Given the description of an element on the screen output the (x, y) to click on. 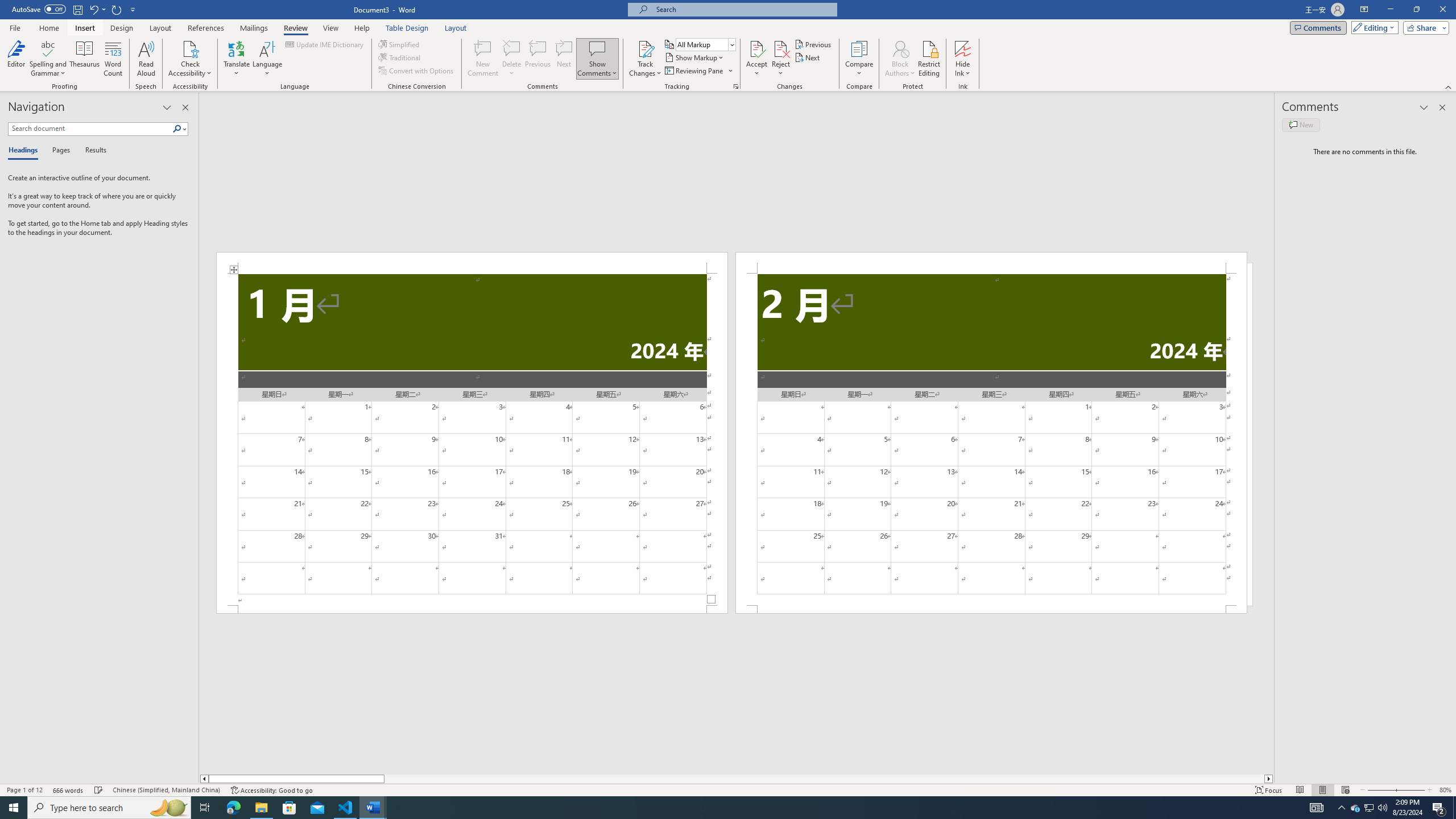
Simplified (400, 44)
